Given the description of an element on the screen output the (x, y) to click on. 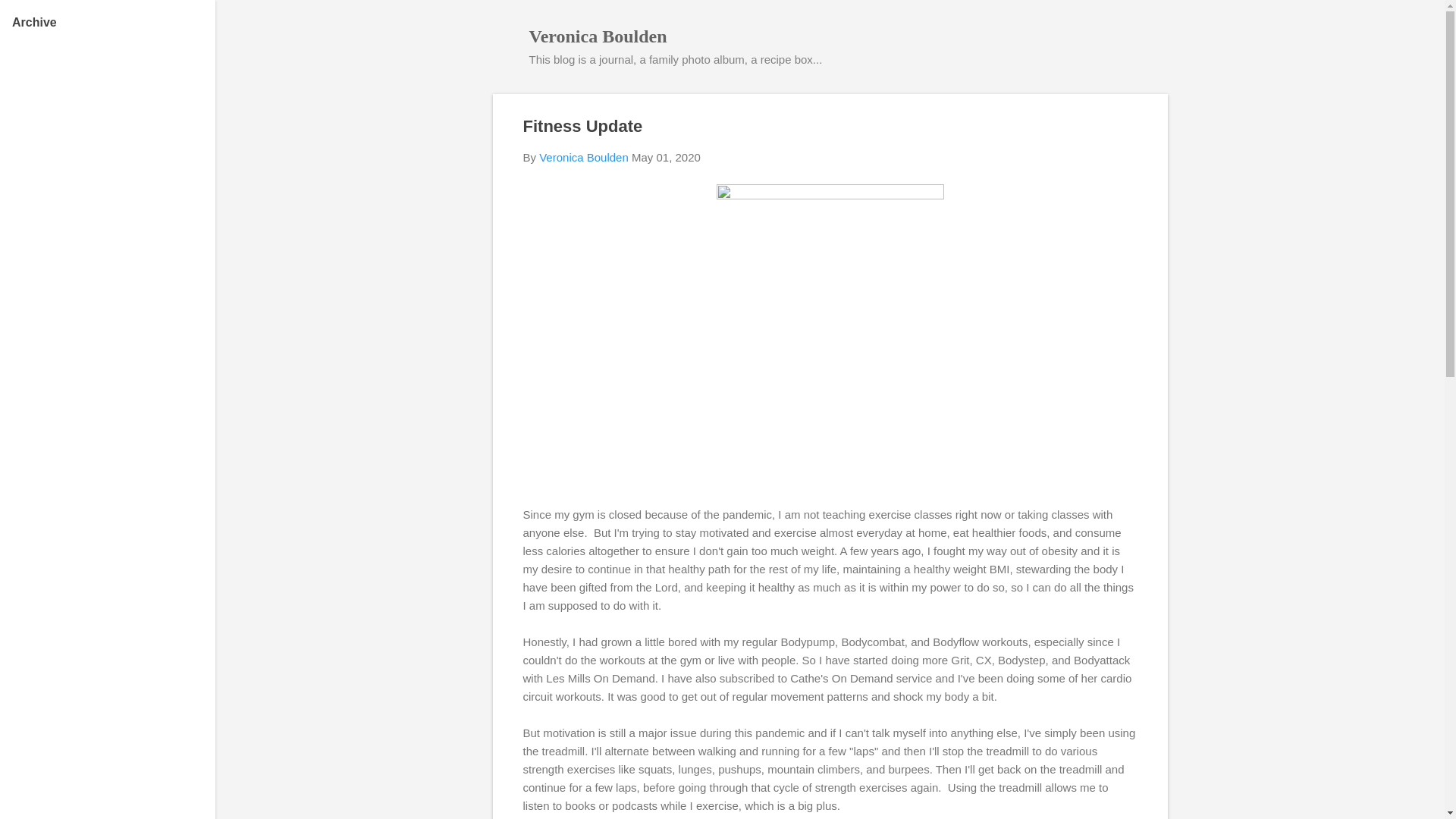
Veronica Boulden (583, 156)
permanent link (665, 156)
Veronica Boulden (597, 35)
author profile (583, 156)
May 01, 2020 (665, 156)
